Given the description of an element on the screen output the (x, y) to click on. 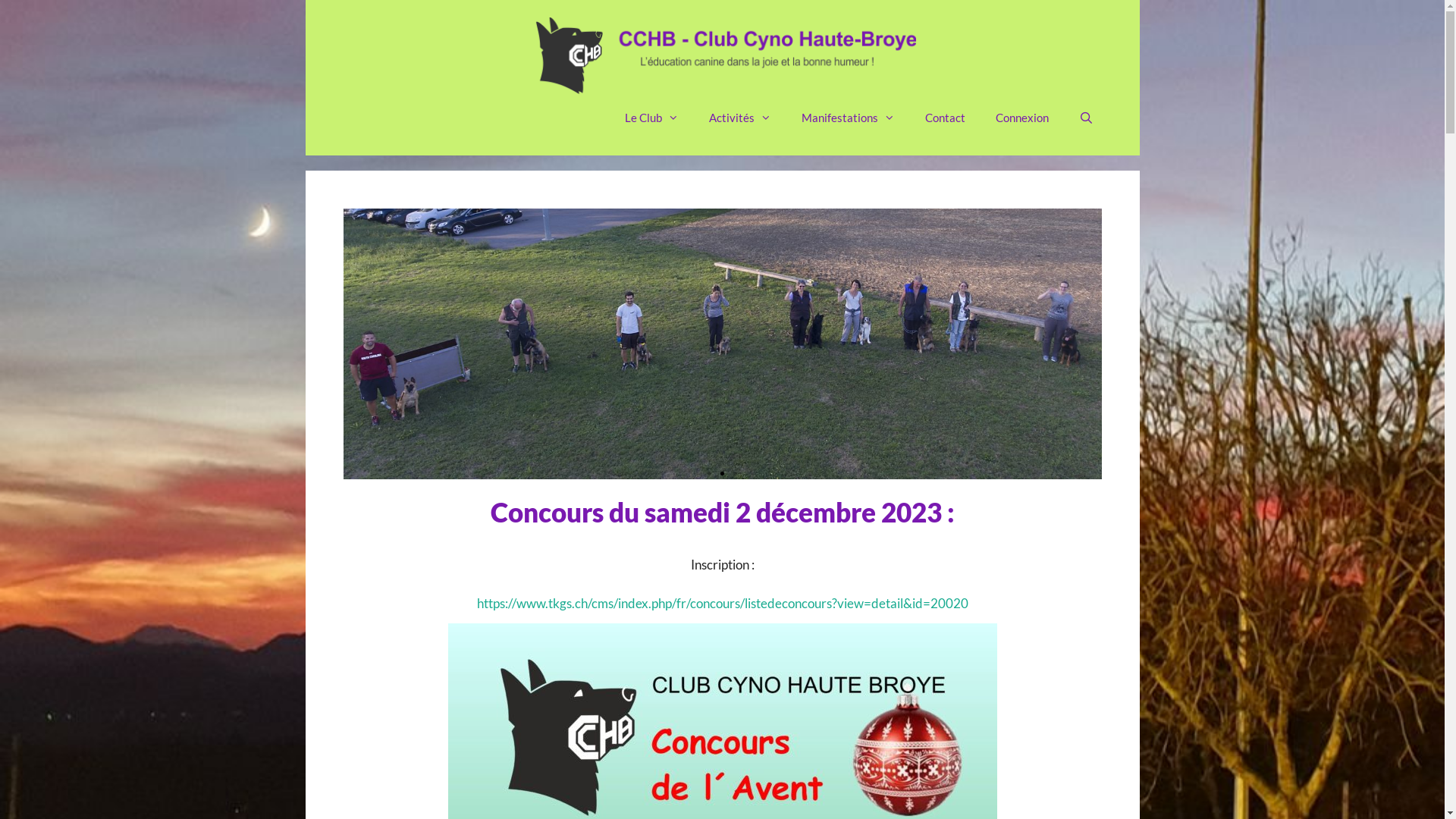
Contact Element type: text (945, 117)
Le Club Element type: text (651, 117)
Connexion Element type: text (1021, 117)
Manifestations Element type: text (848, 117)
